Given the description of an element on the screen output the (x, y) to click on. 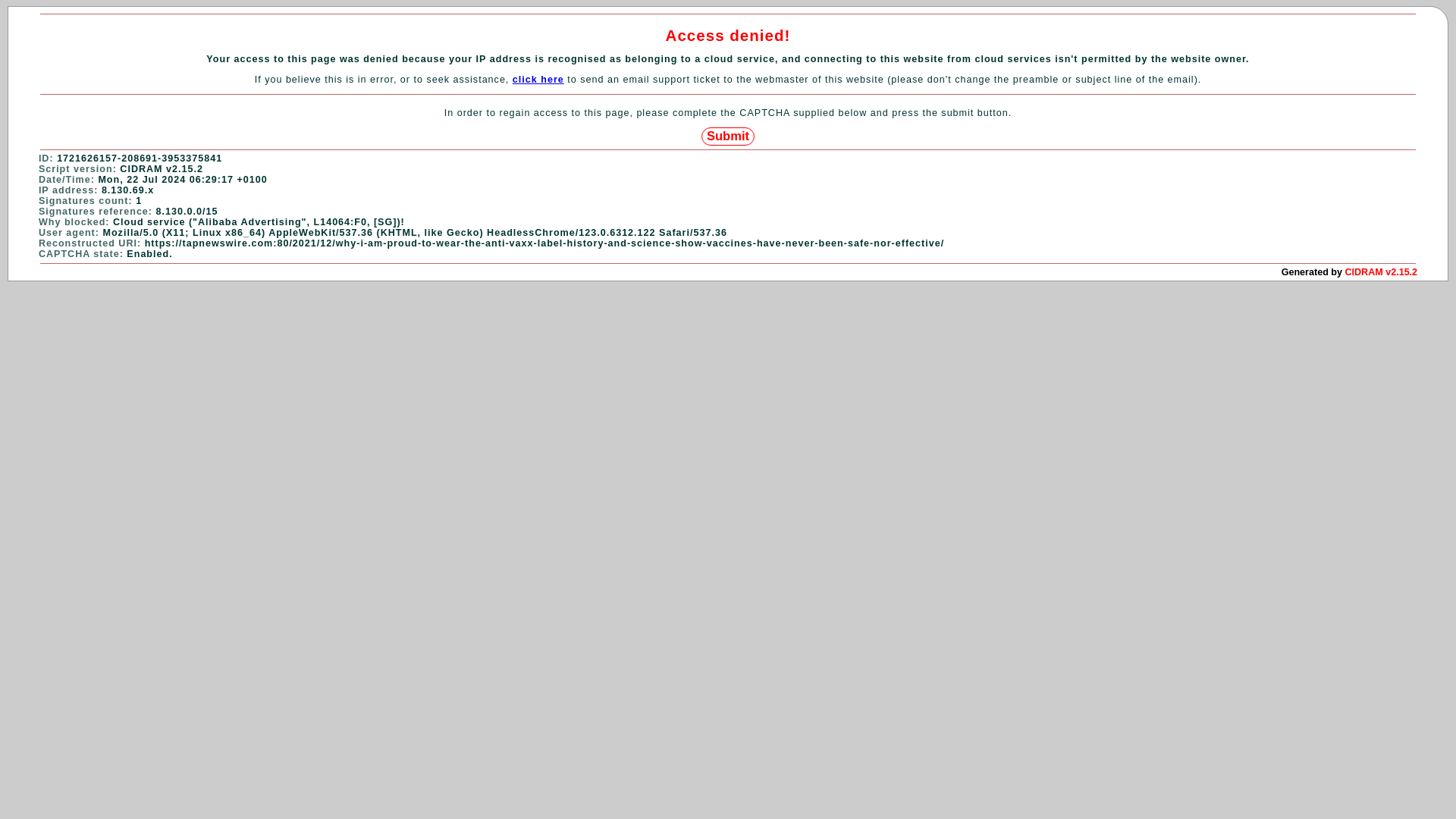
Submit (727, 136)
Submit (727, 136)
click here (538, 79)
